Given the description of an element on the screen output the (x, y) to click on. 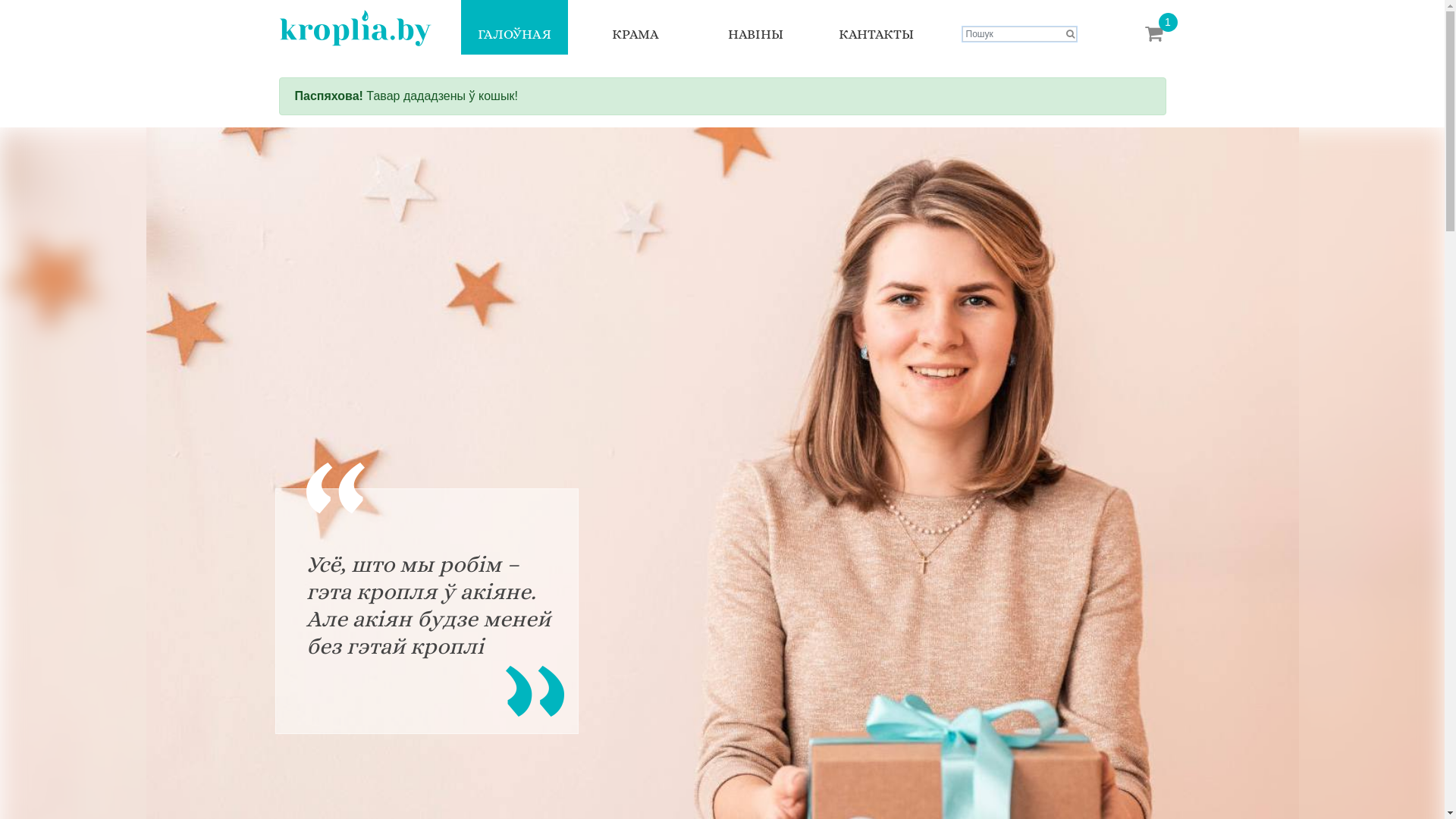
1 Element type: text (1153, 32)
